Given the description of an element on the screen output the (x, y) to click on. 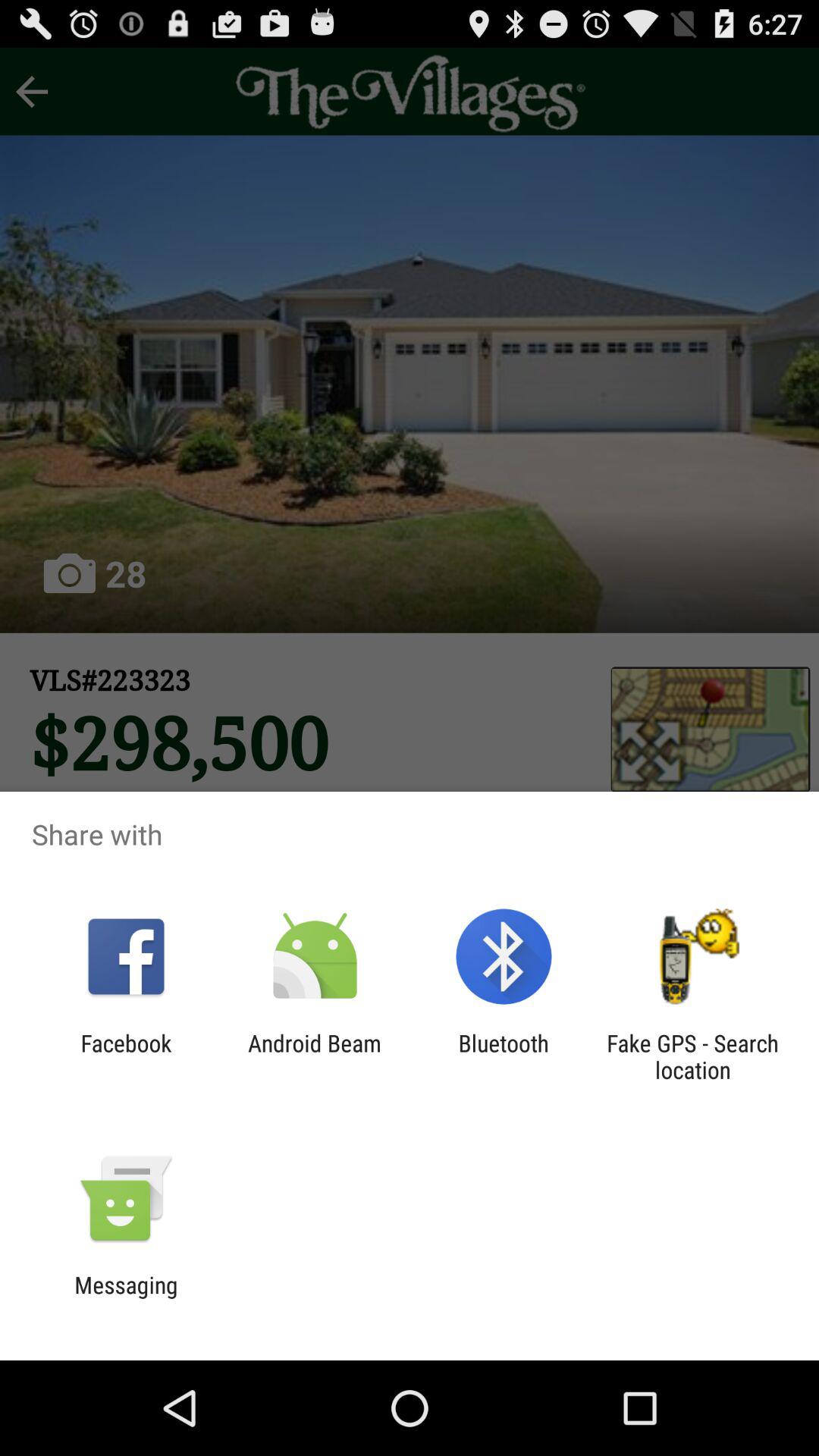
swipe until the messaging item (126, 1298)
